Given the description of an element on the screen output the (x, y) to click on. 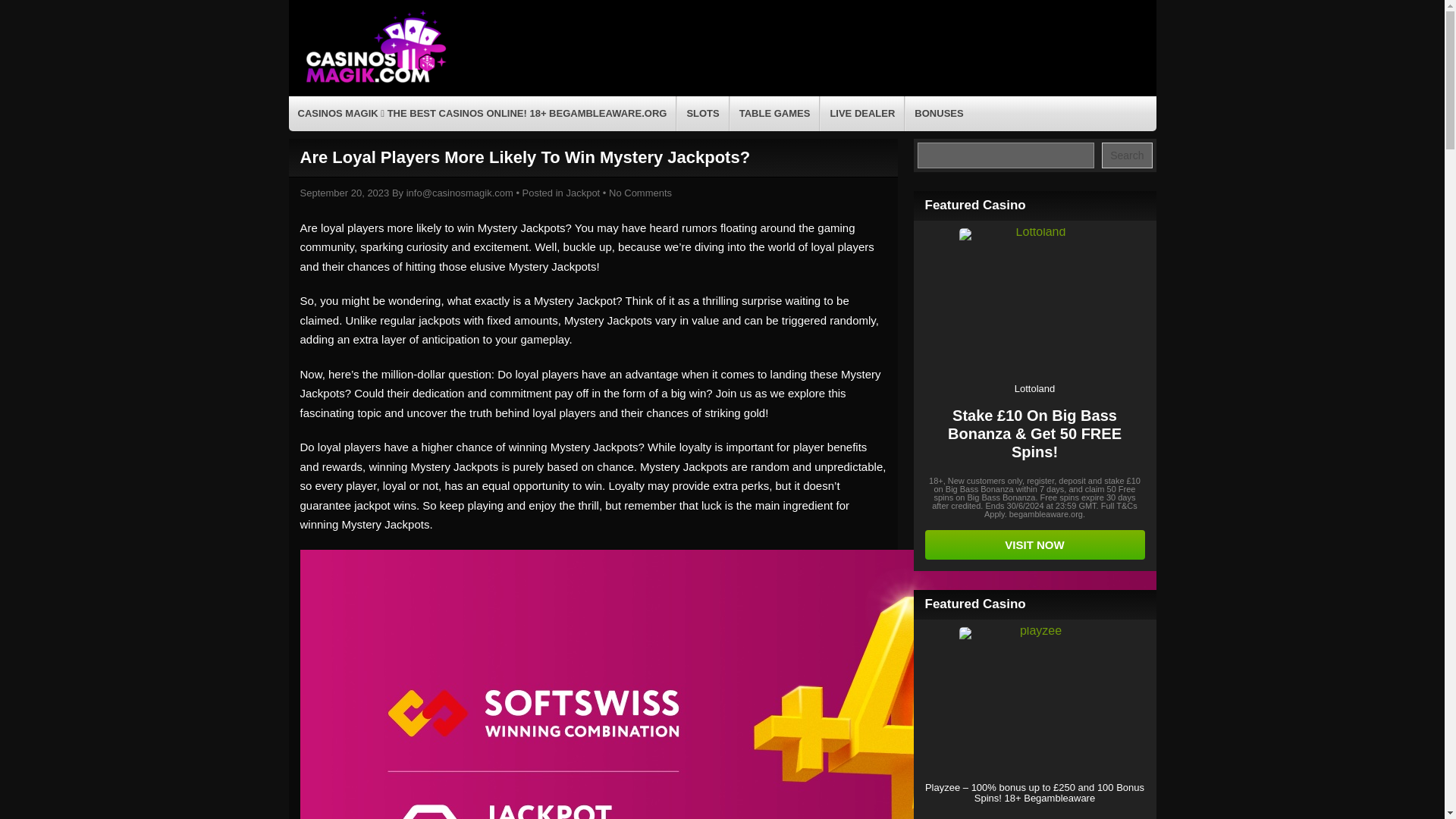
VISIT NOW (1034, 544)
BONUSES (938, 113)
Search (1126, 155)
Jackpot (582, 193)
No Comments (639, 193)
TABLE GAMES (774, 113)
LIVE DEALER (862, 113)
SLOTS (702, 113)
